Given the description of an element on the screen output the (x, y) to click on. 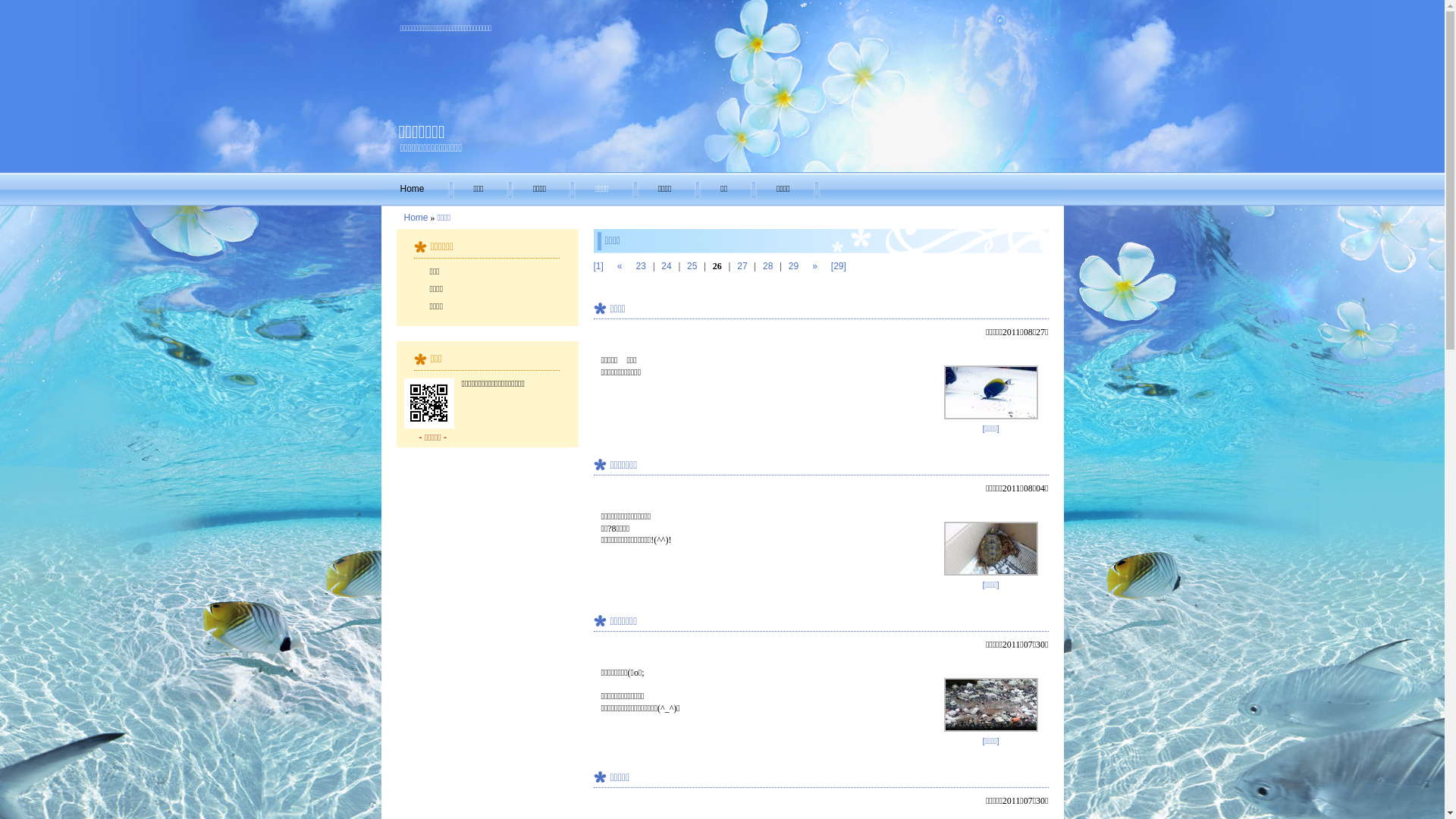
[1] Element type: text (597, 265)
29 Element type: text (793, 265)
Home Element type: text (417, 189)
24 Element type: text (666, 265)
28 Element type: text (767, 265)
25 Element type: text (691, 265)
Home Element type: text (415, 217)
[29] Element type: text (838, 265)
27 Element type: text (741, 265)
23 Element type: text (641, 265)
